Given the description of an element on the screen output the (x, y) to click on. 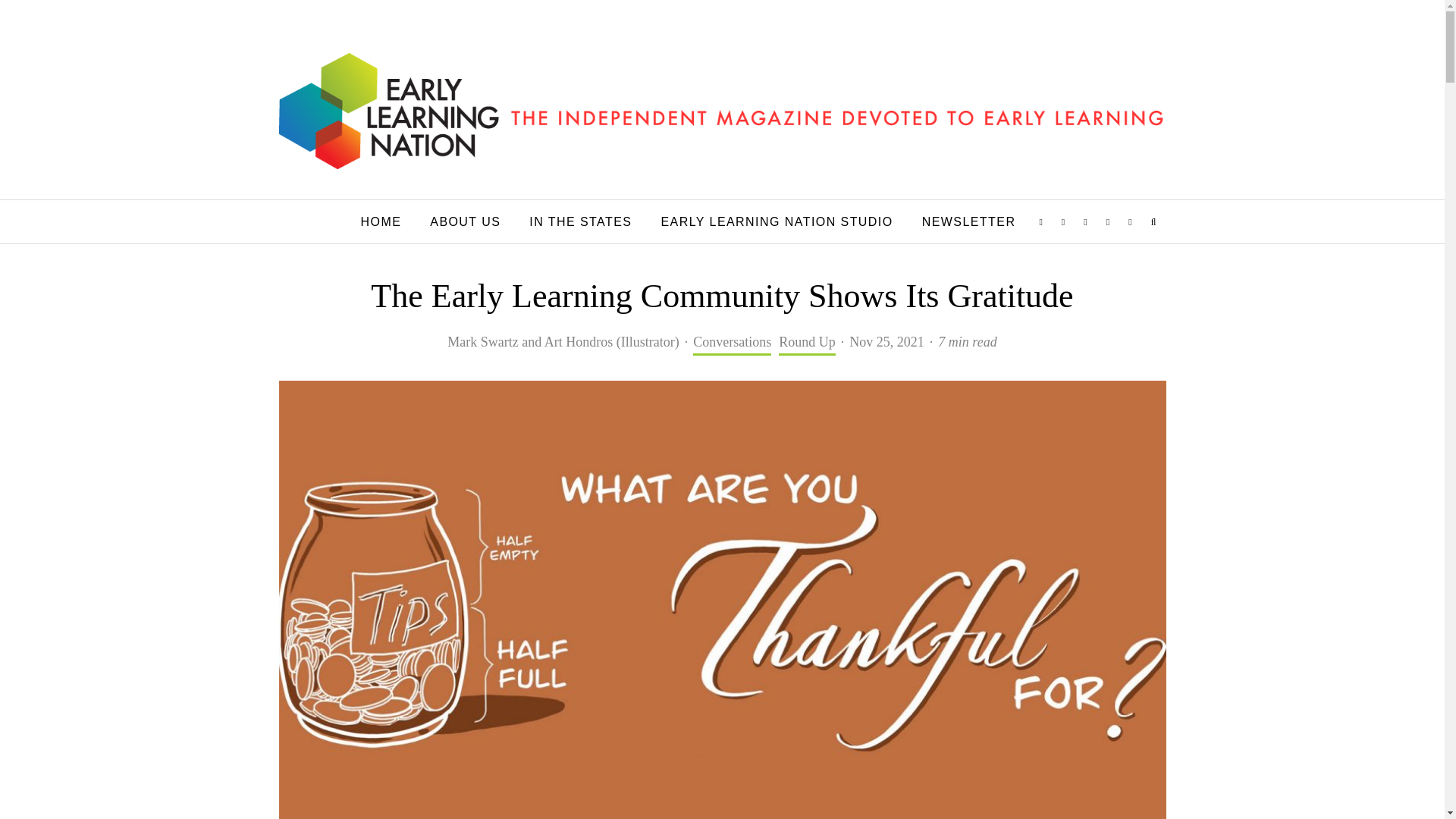
Mark Swartz (482, 341)
IN THE STATES (580, 221)
NEWSLETTER (968, 221)
EARLY LEARNING NATION STUDIO (776, 221)
Conversations (732, 342)
View all posts by Mark Swartz (482, 341)
ABOUT US (464, 221)
HOME (380, 221)
Round Up (806, 342)
